Given the description of an element on the screen output the (x, y) to click on. 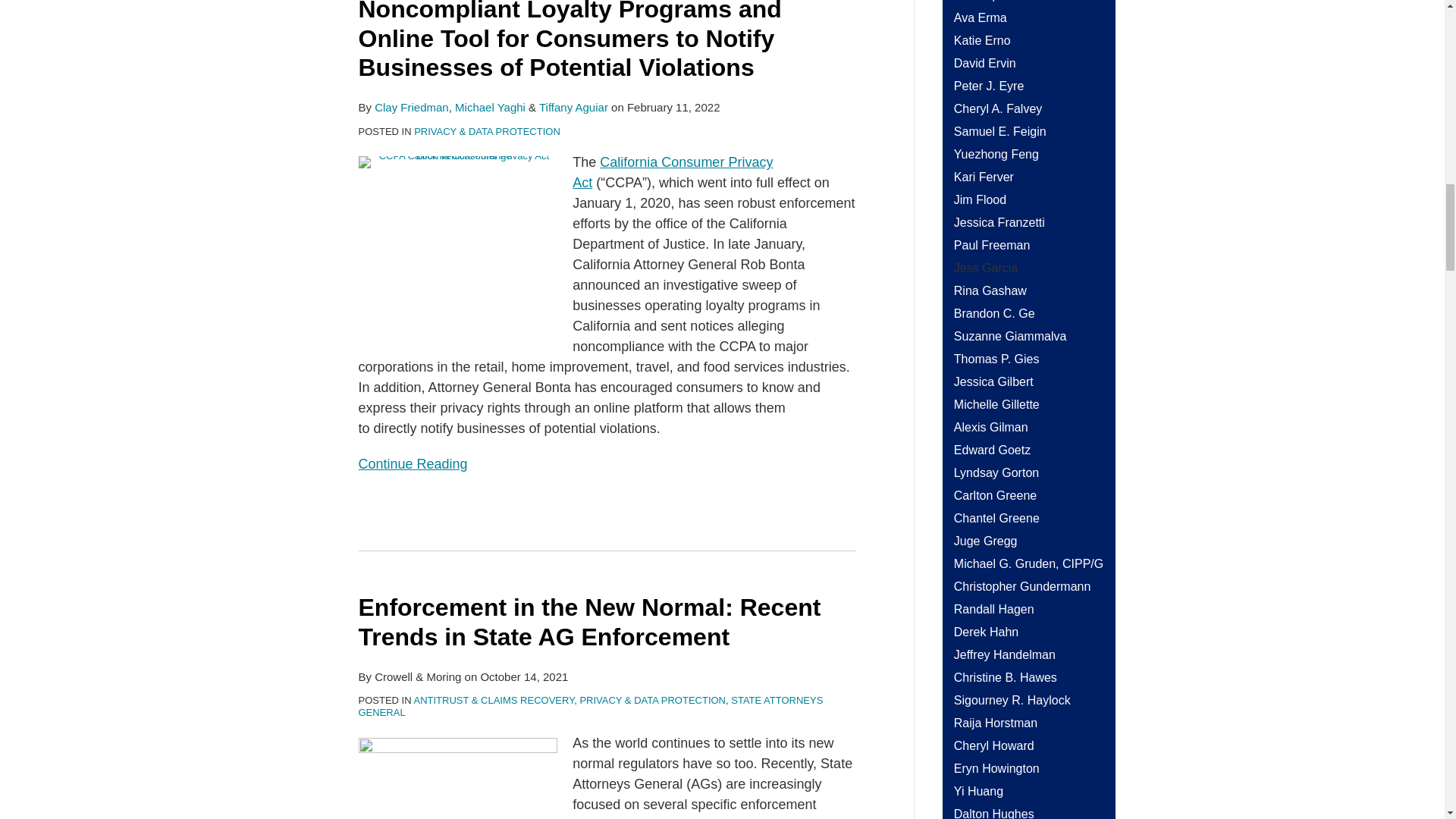
Michael Yaghi (489, 106)
Clay Friedman (411, 106)
California Consumer Privacy Act (672, 172)
Tiffany Aguiar (573, 106)
